Given the description of an element on the screen output the (x, y) to click on. 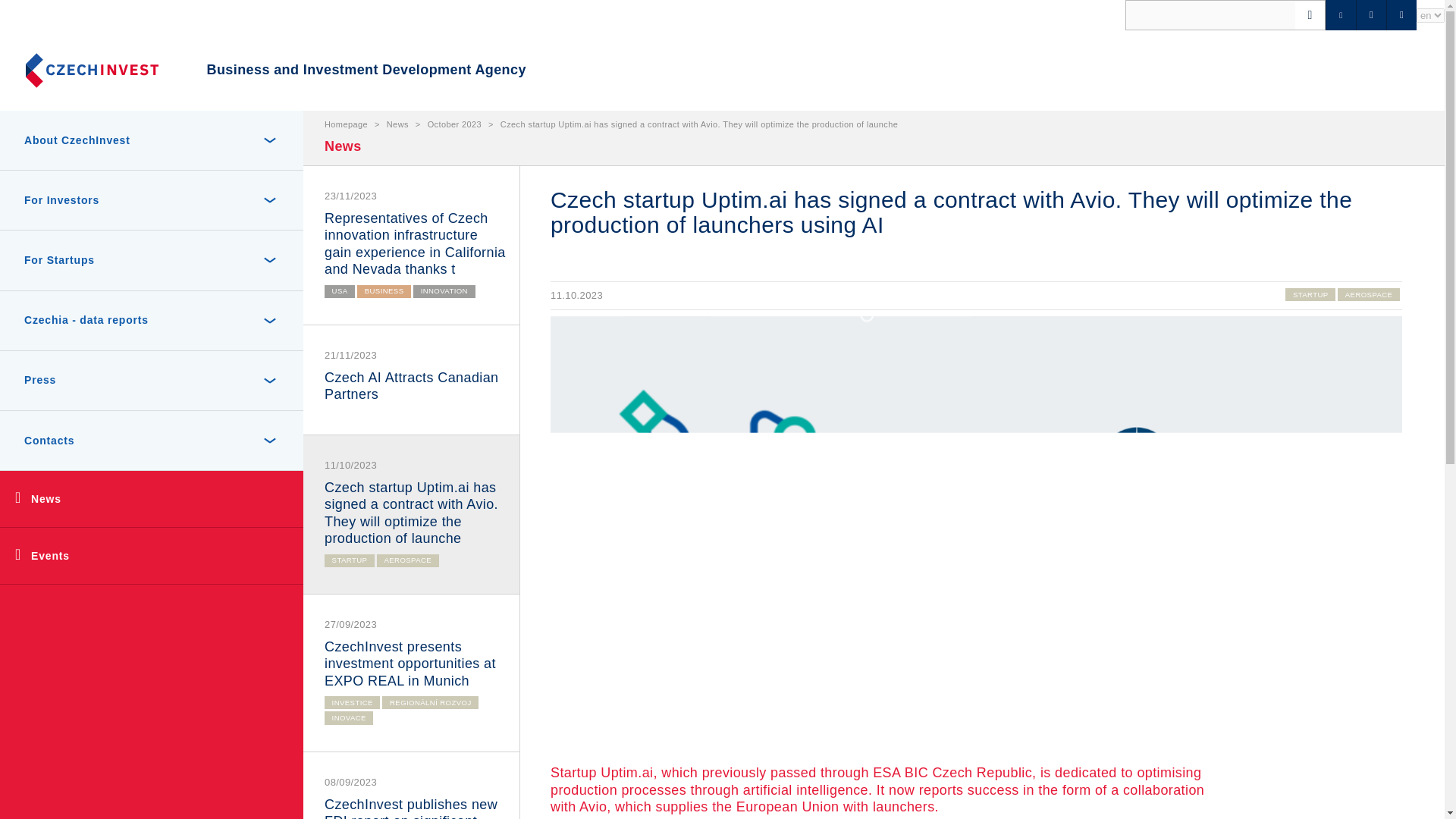
Search (39, 18)
